Given the description of an element on the screen output the (x, y) to click on. 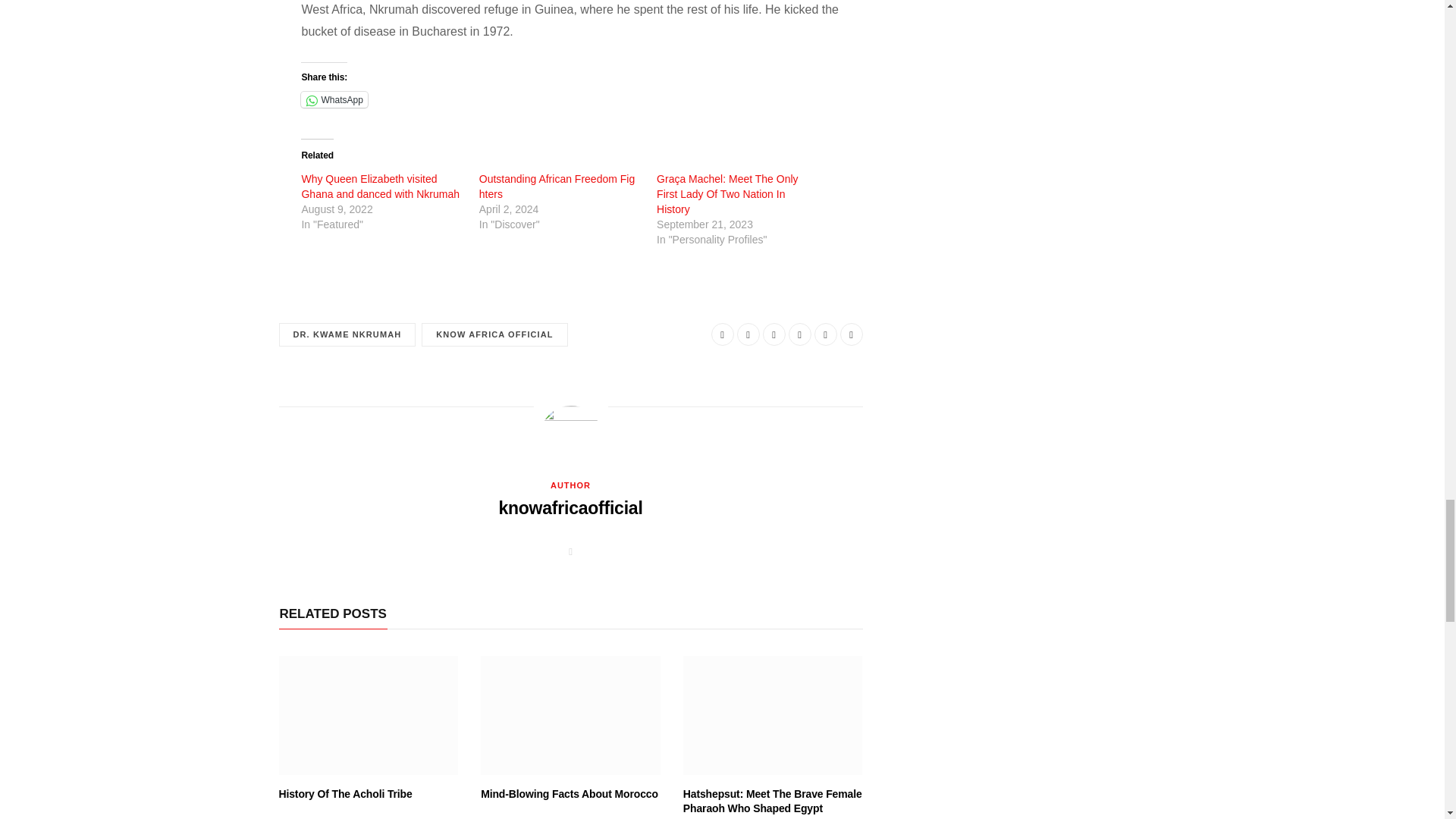
KNOW AFRICA OFFICIAL (494, 334)
Outstanding African Freedom Fighters (556, 185)
DR. KWAME NKRUMAH (347, 334)
knowafricaofficial (569, 508)
Why Queen Elizabeth visited Ghana and danced with Nkrumah (380, 185)
WhatsApp (333, 99)
Click to share on WhatsApp (333, 99)
Why Queen Elizabeth visited Ghana and danced with Nkrumah (380, 185)
